Given the description of an element on the screen output the (x, y) to click on. 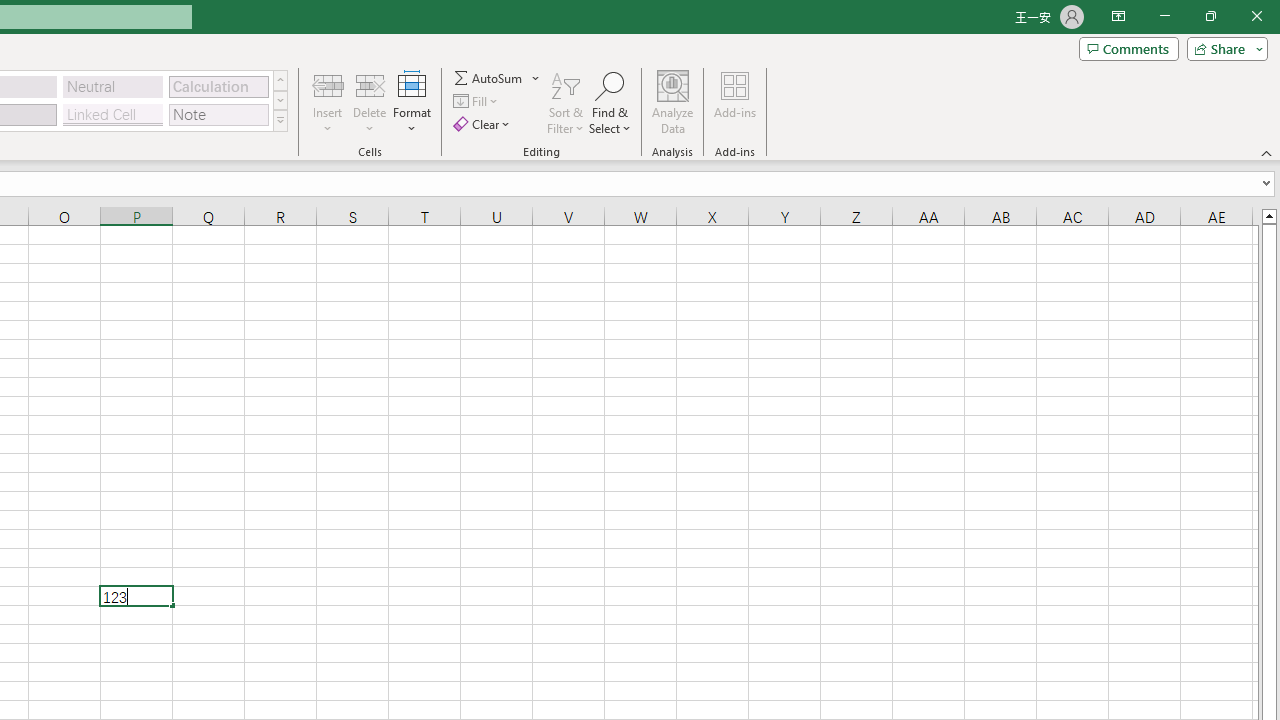
Find & Select (610, 102)
AutoSum (497, 78)
Note (218, 114)
Calculation (218, 86)
Insert Cells (328, 84)
Linked Cell (113, 114)
Format (411, 102)
Neutral (113, 86)
Sort & Filter (566, 102)
Edit Cell (136, 596)
